Given the description of an element on the screen output the (x, y) to click on. 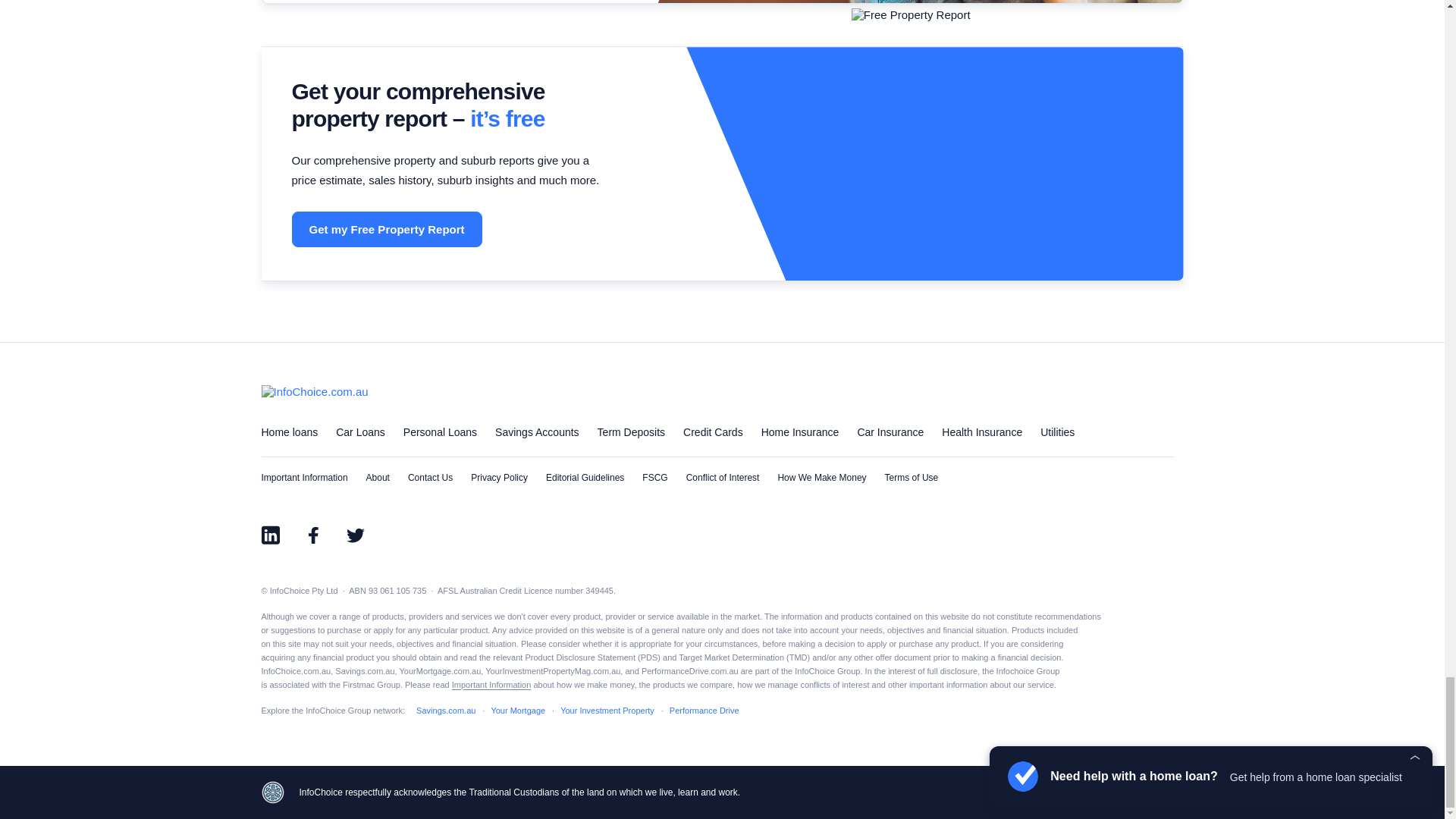
Follow InfoChoice on Twitter (354, 534)
Follow InfoChoice on LinkedIn (269, 534)
Follow InfoChoice on Facebook (312, 534)
